Given the description of an element on the screen output the (x, y) to click on. 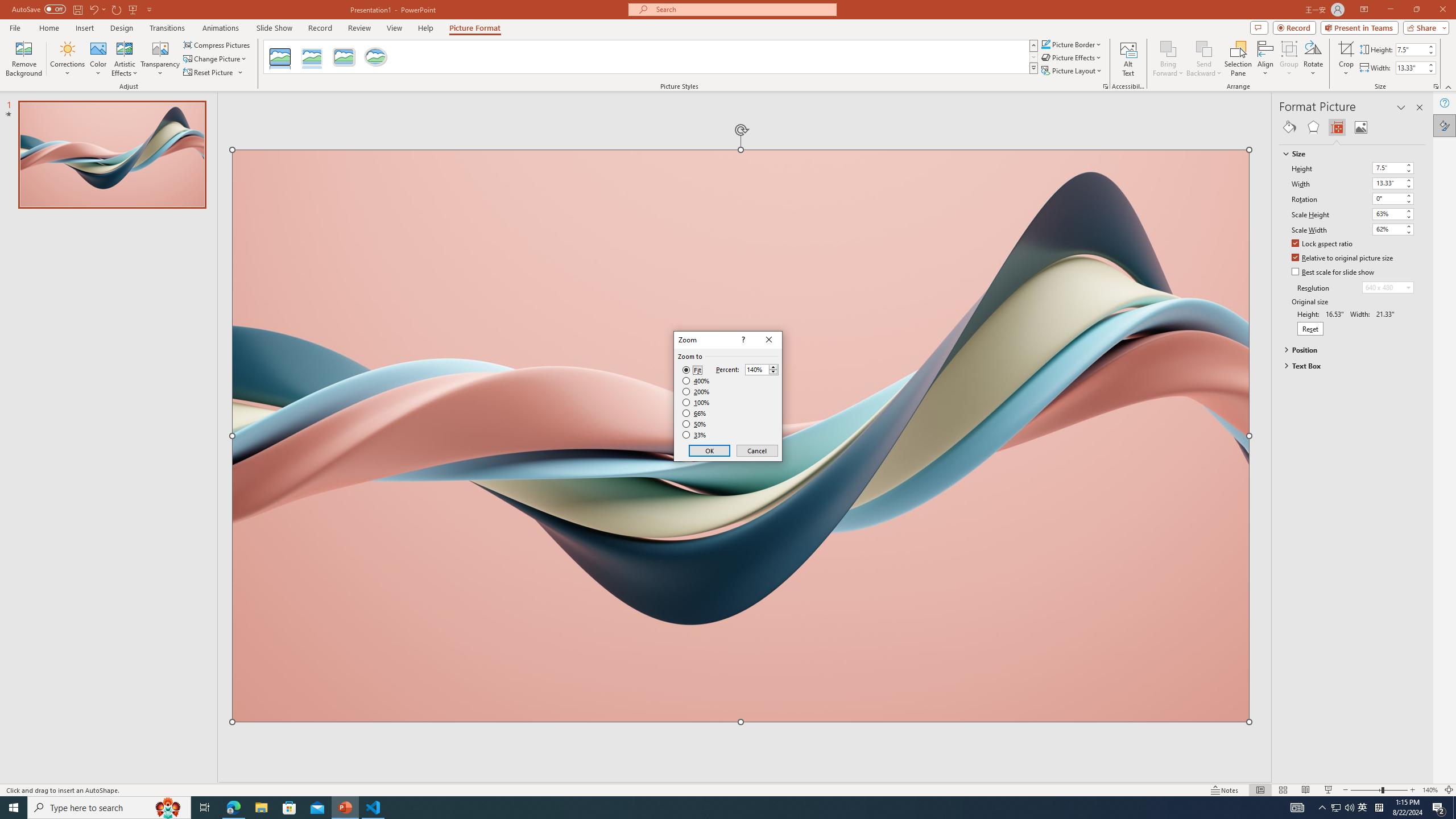
Picture Format (475, 28)
Relative to original picture size (1342, 258)
Shape Width (1410, 67)
Metal Rounded Rectangle (343, 56)
Reflected Bevel, Black (280, 56)
Scale Height (1393, 214)
